Given the description of an element on the screen output the (x, y) to click on. 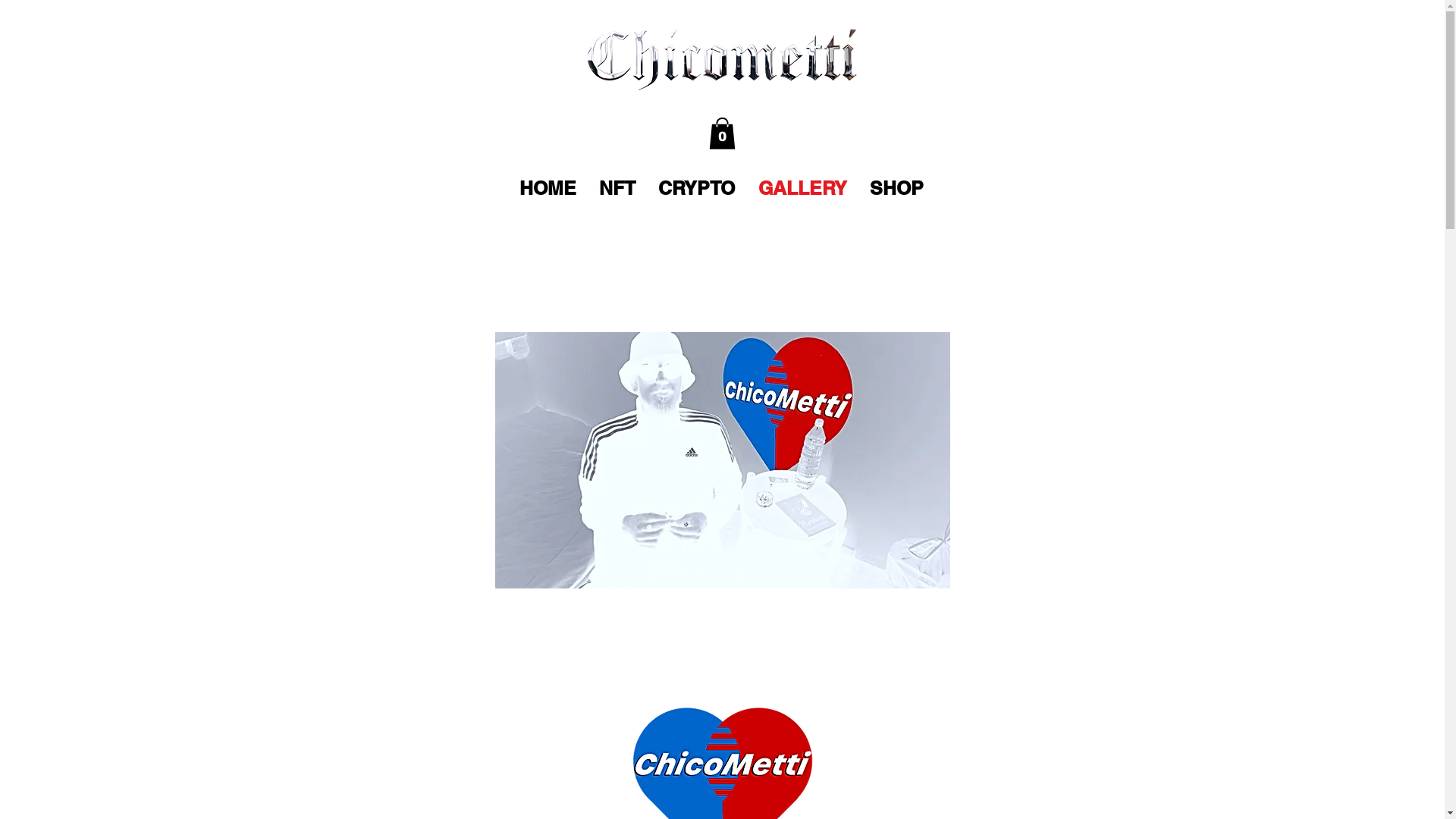
HOME Element type: text (547, 188)
Embedded Content Element type: hover (722, 245)
NFT Element type: text (616, 188)
0 Element type: text (721, 133)
SHOP Element type: text (896, 188)
GALLERY Element type: text (802, 188)
CRYPTO Element type: text (696, 188)
